Given the description of an element on the screen output the (x, y) to click on. 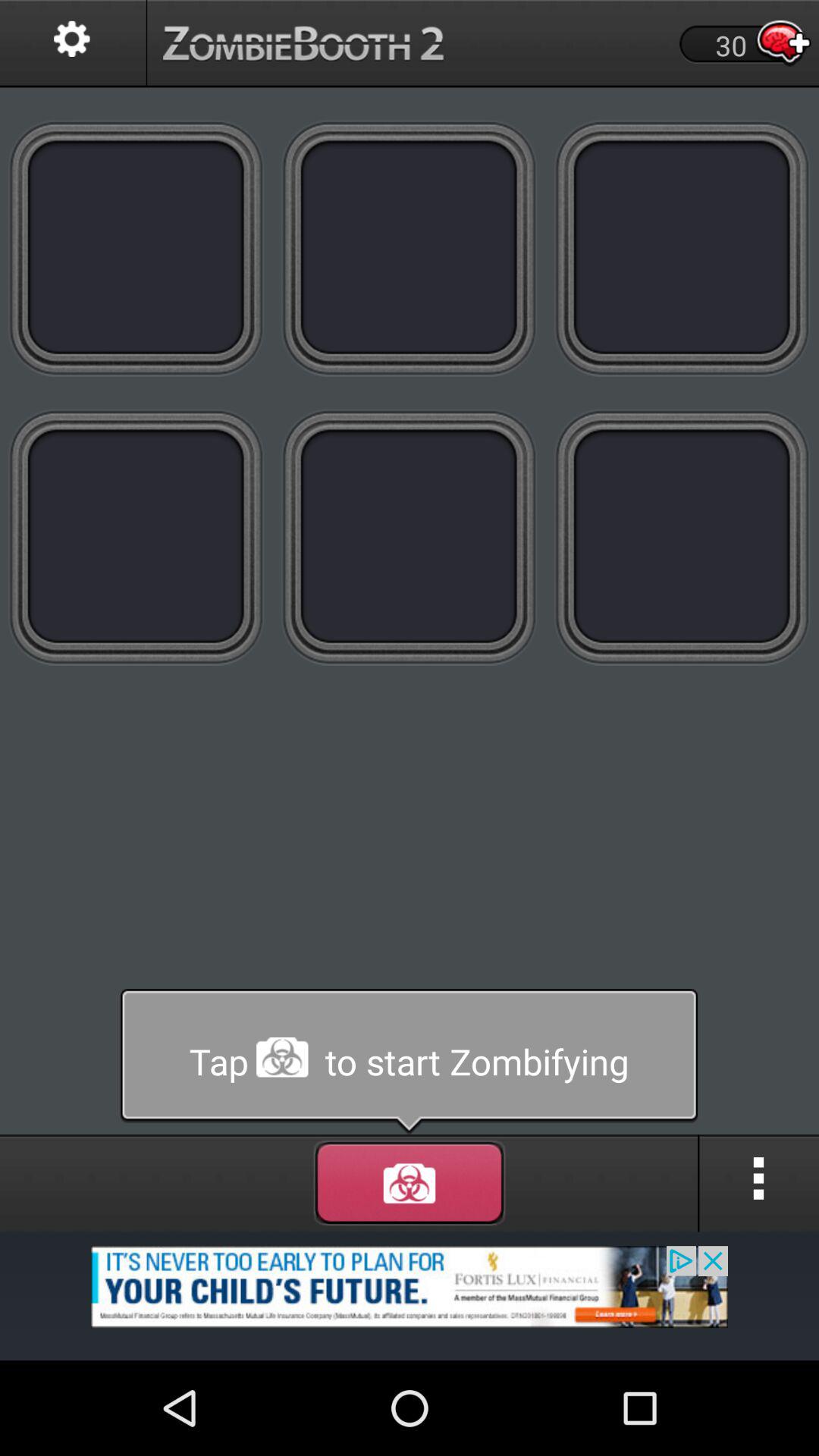
start button (408, 1061)
